Given the description of an element on the screen output the (x, y) to click on. 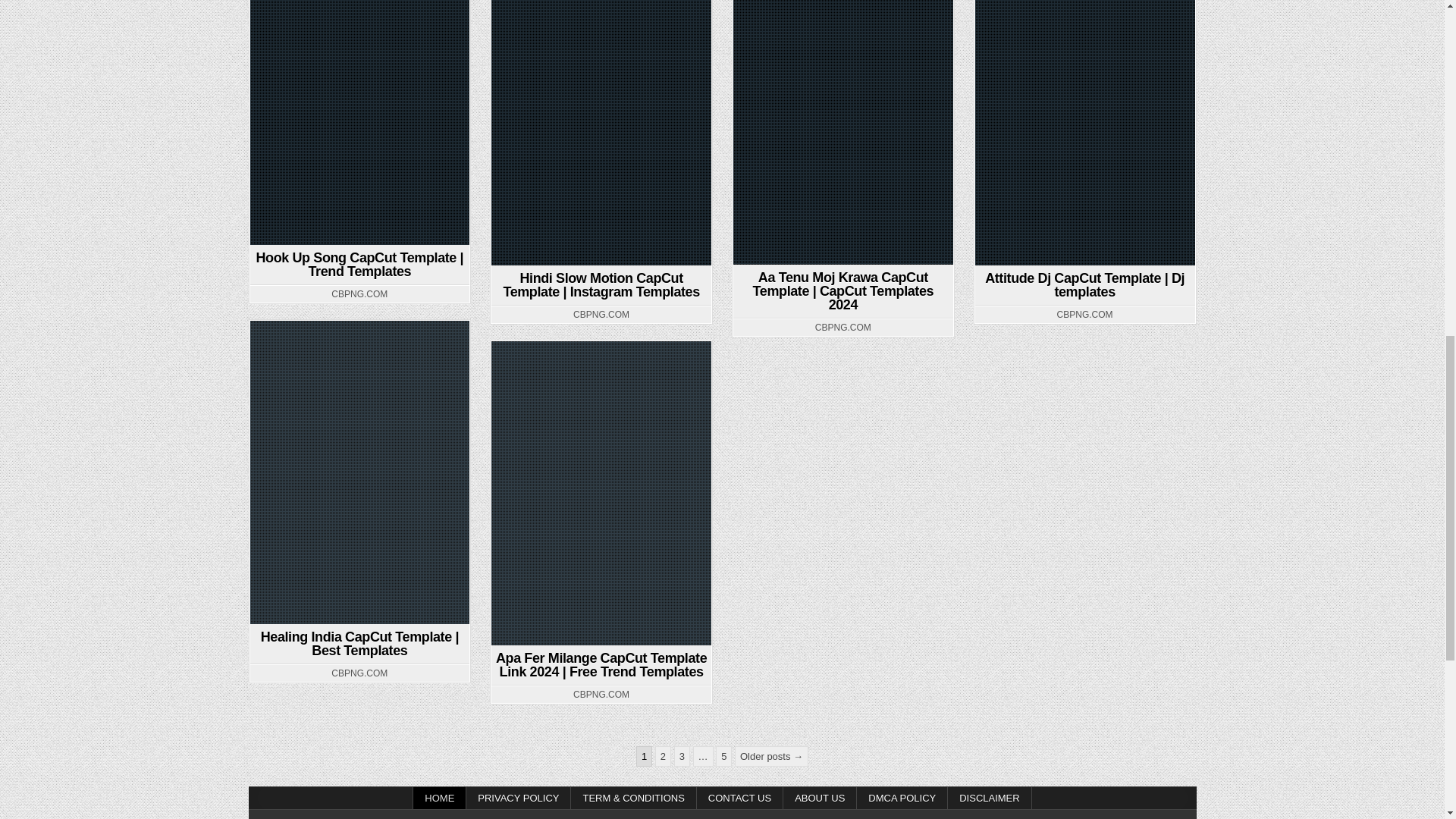
CBPNG.COM (842, 327)
CBPNG.COM (359, 293)
